Given the description of an element on the screen output the (x, y) to click on. 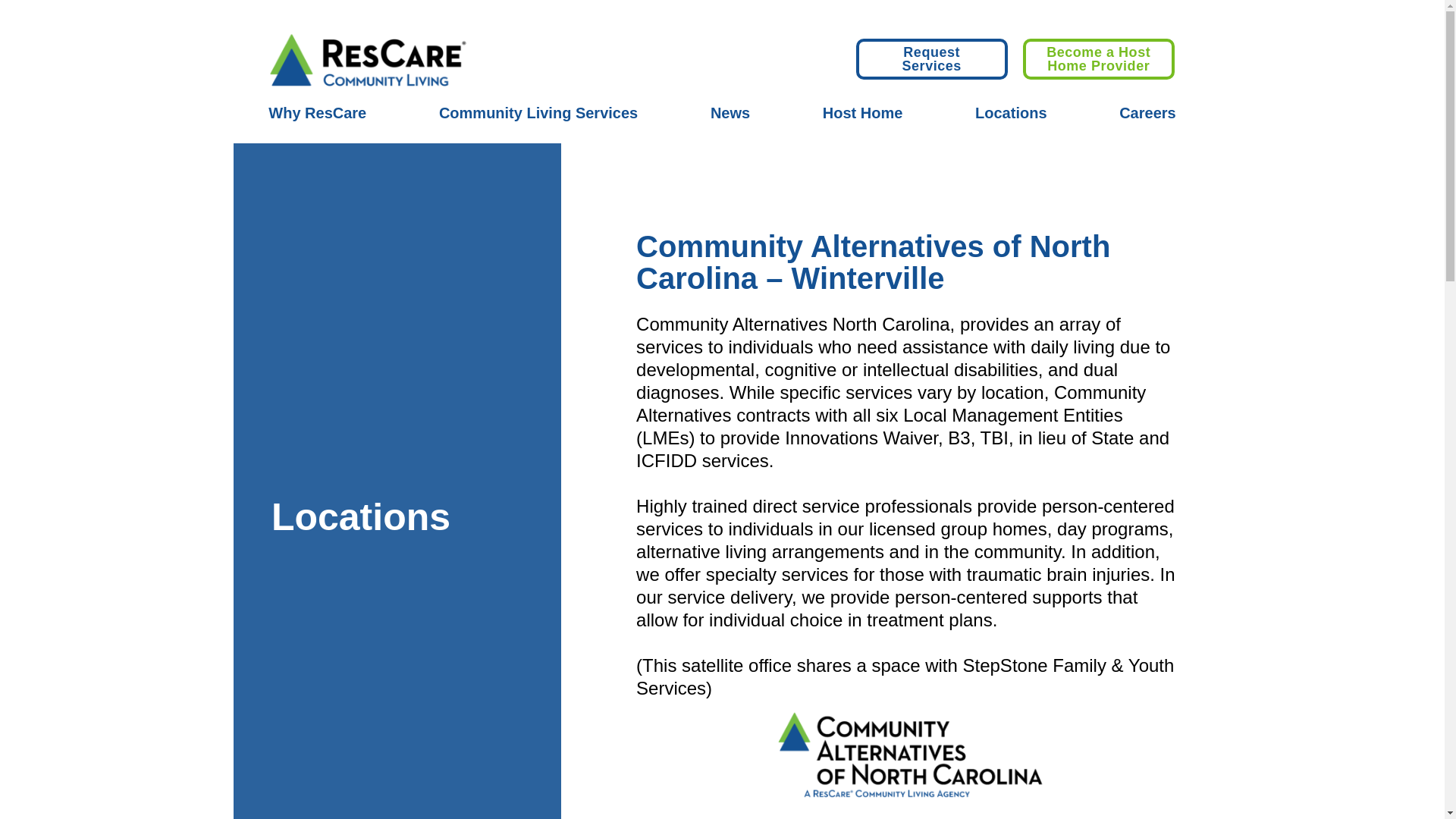
Request Services (931, 58)
Host Home (862, 112)
Locations (1010, 112)
News (729, 112)
Community Living Services (538, 112)
Become a Host Home Provider (1098, 58)
Careers (1147, 112)
Why ResCare (316, 112)
